Given the description of an element on the screen output the (x, y) to click on. 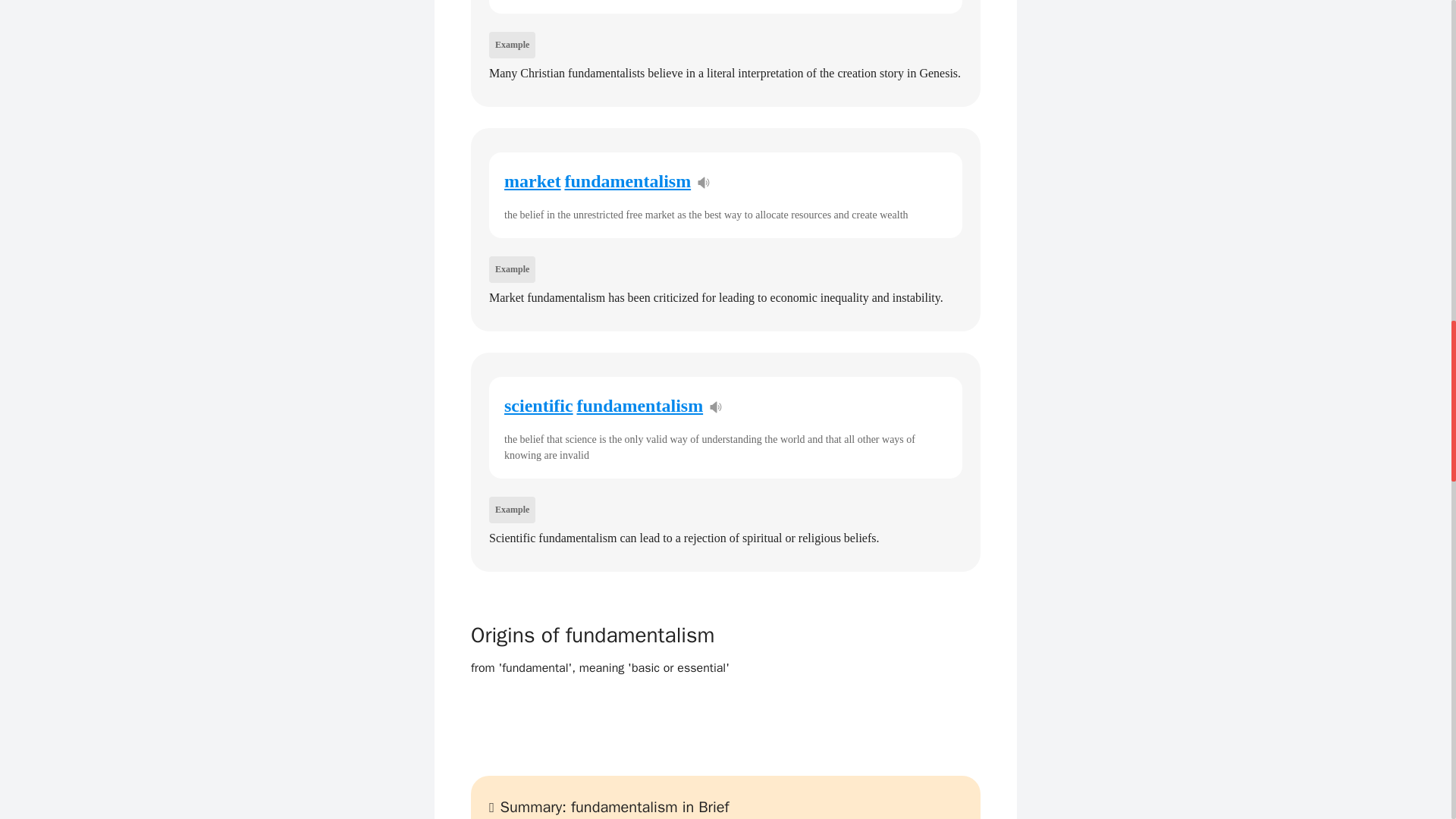
fundamentalism (627, 180)
market (531, 180)
scientific (538, 405)
